Given the description of an element on the screen output the (x, y) to click on. 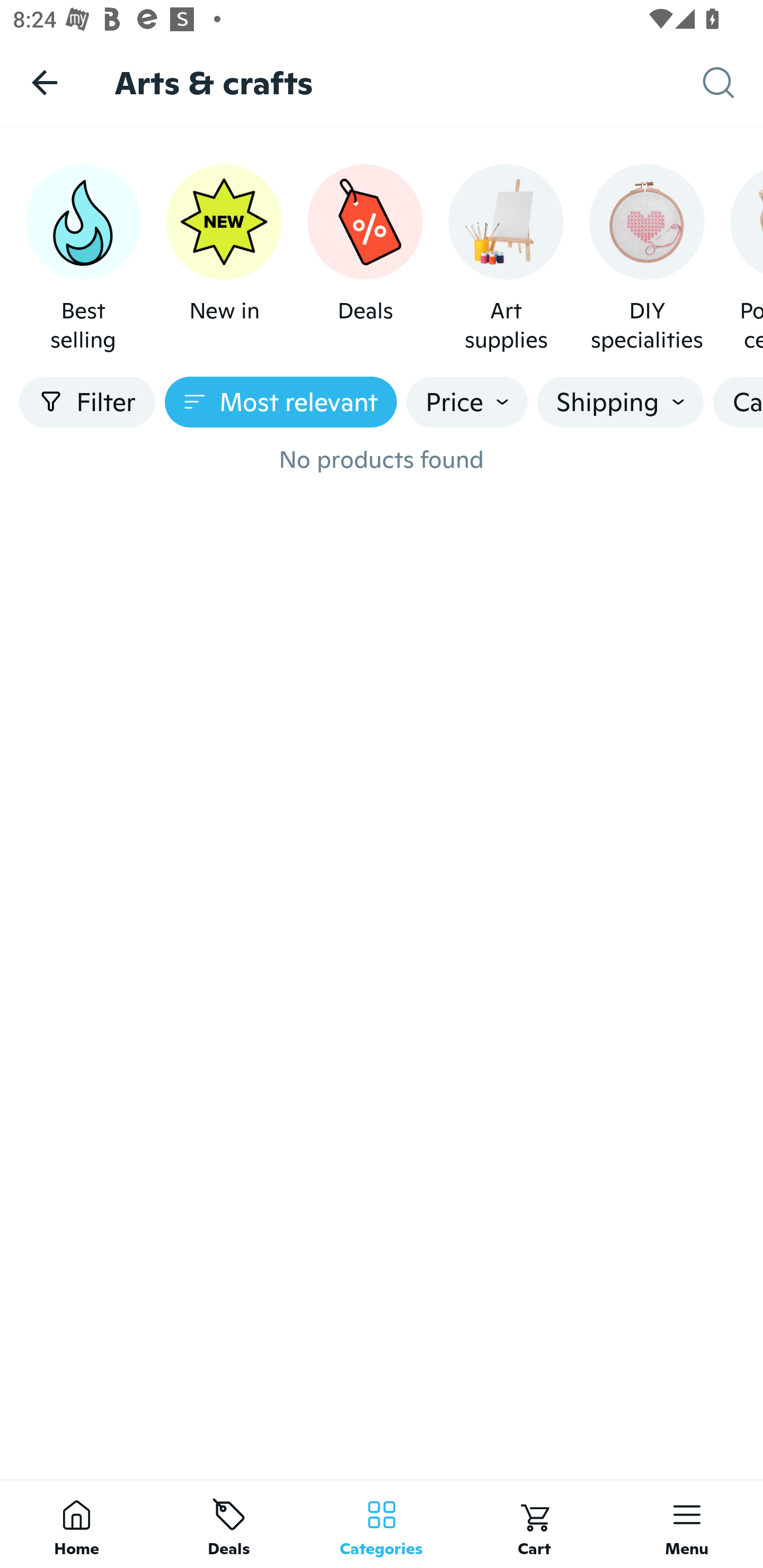
Navigate up (44, 82)
Search (732, 82)
Best selling (83, 259)
New in (223, 259)
Deals (364, 259)
Art supplies (505, 259)
DIY specialities (647, 259)
Filter (86, 402)
Most relevant (280, 402)
Price (466, 402)
Shipping (620, 402)
Home (76, 1523)
Deals (228, 1523)
Categories (381, 1523)
Cart (533, 1523)
Menu (686, 1523)
